Given the description of an element on the screen output the (x, y) to click on. 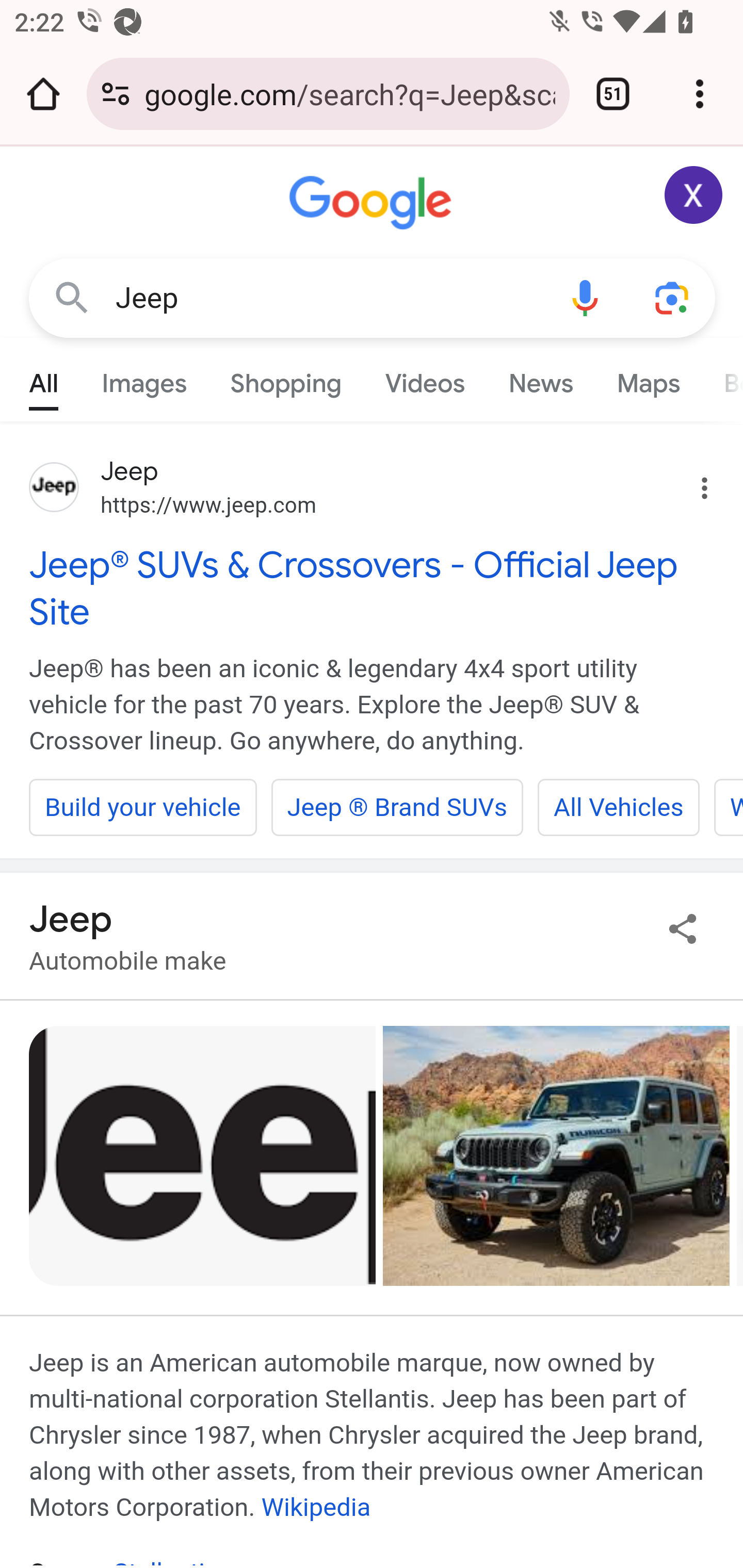
Open the home page (43, 93)
Connection is secure (115, 93)
Switch or close tabs (612, 93)
Customize and control Google Chrome (699, 93)
Google (372, 203)
Google Account: Xiaoran (zxrappiumtest@gmail.com) (694, 195)
Google Search (71, 296)
Search using your camera or photos (672, 296)
Jeep (328, 297)
Images (144, 378)
Shopping (285, 378)
Videos (424, 378)
News (540, 378)
Maps (647, 378)
Jeep® SUVs & Crossovers - Official Jeep Site (372, 587)
Build your vehicle (142, 807)
Jeep ® Brand SUVs (397, 807)
All Vehicles (618, 807)
Share (683, 928)
Wikipedia (316, 1507)
